Given the description of an element on the screen output the (x, y) to click on. 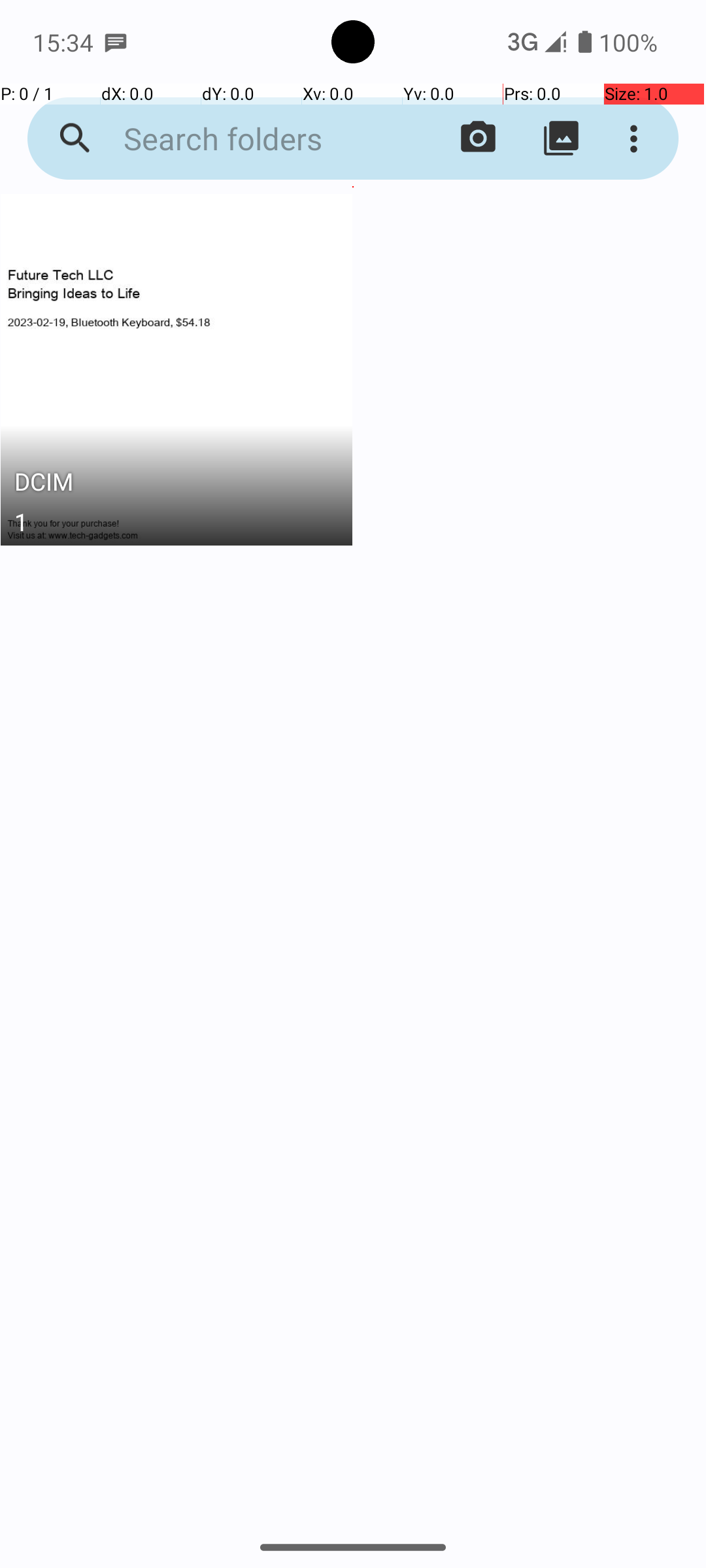
Open camera Element type: android.widget.Button (477, 138)
Show all folders content Element type: android.widget.Button (560, 138)
DCIM Element type: android.widget.TextView (176, 484)
